Given the description of an element on the screen output the (x, y) to click on. 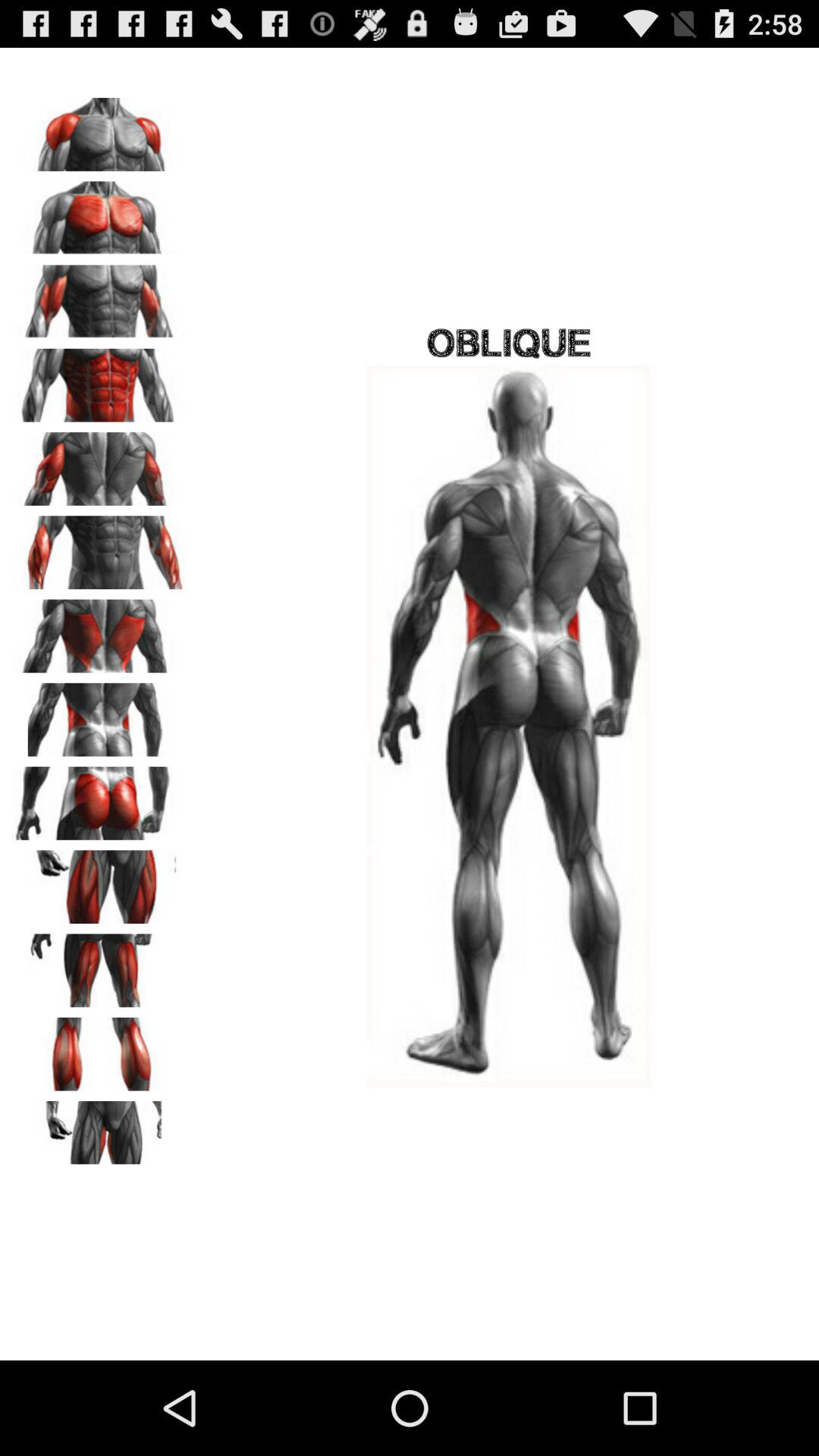
abdomen photo (99, 380)
